Given the description of an element on the screen output the (x, y) to click on. 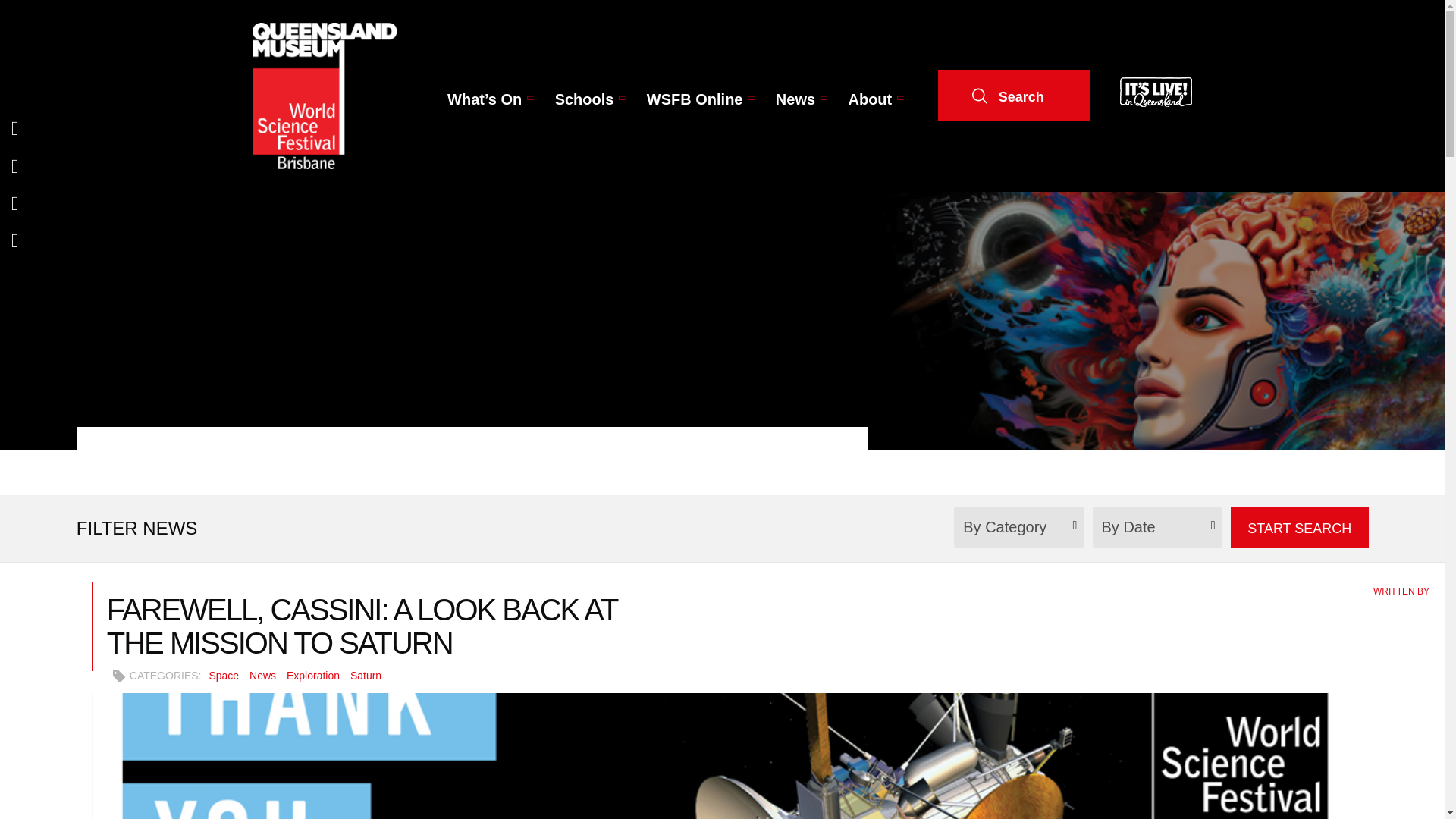
Schools (584, 99)
About (869, 99)
WSFB Online (694, 99)
Start Search (1299, 526)
